Given the description of an element on the screen output the (x, y) to click on. 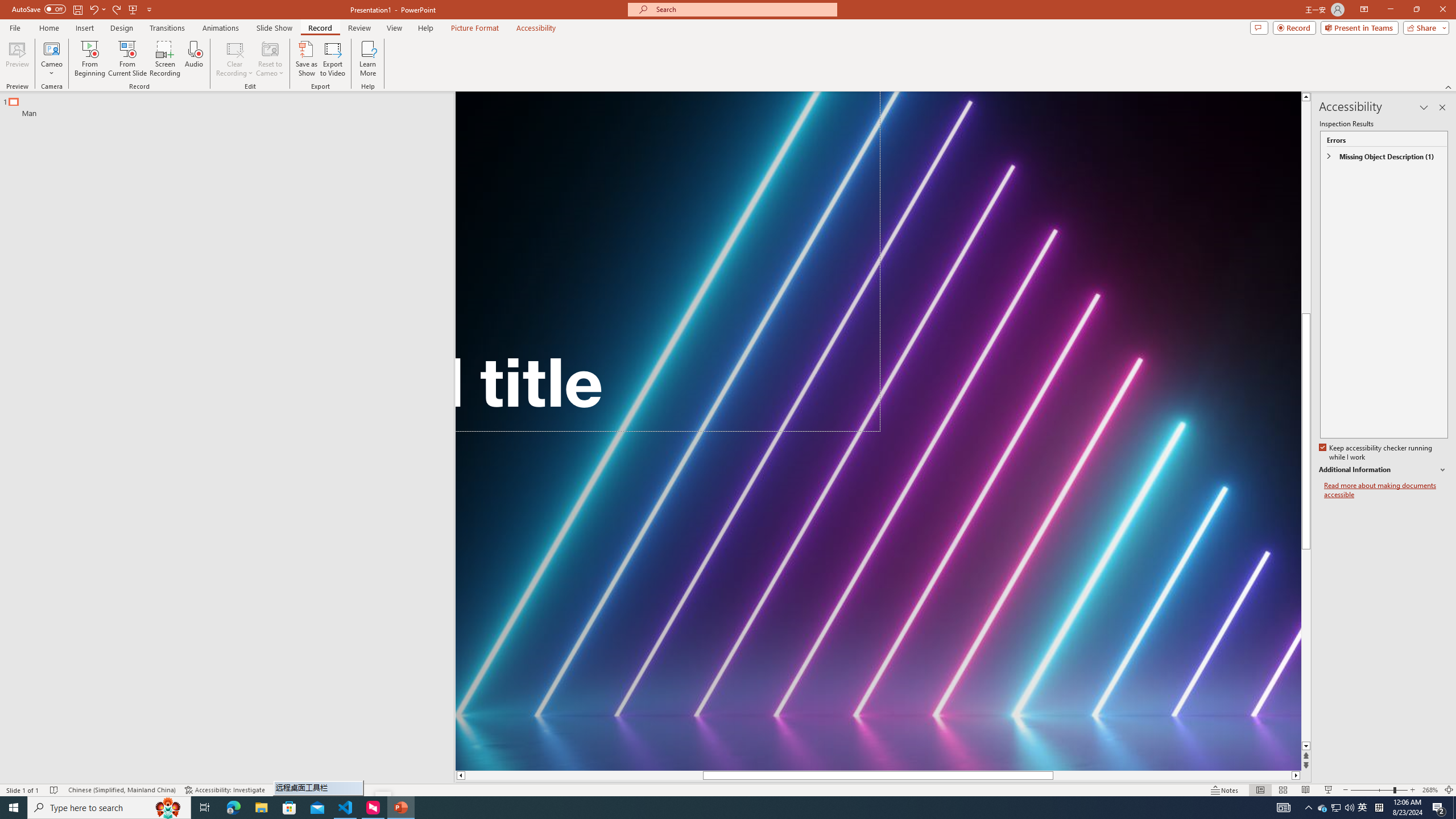
Zoom 268% (1430, 790)
